Given the description of an element on the screen output the (x, y) to click on. 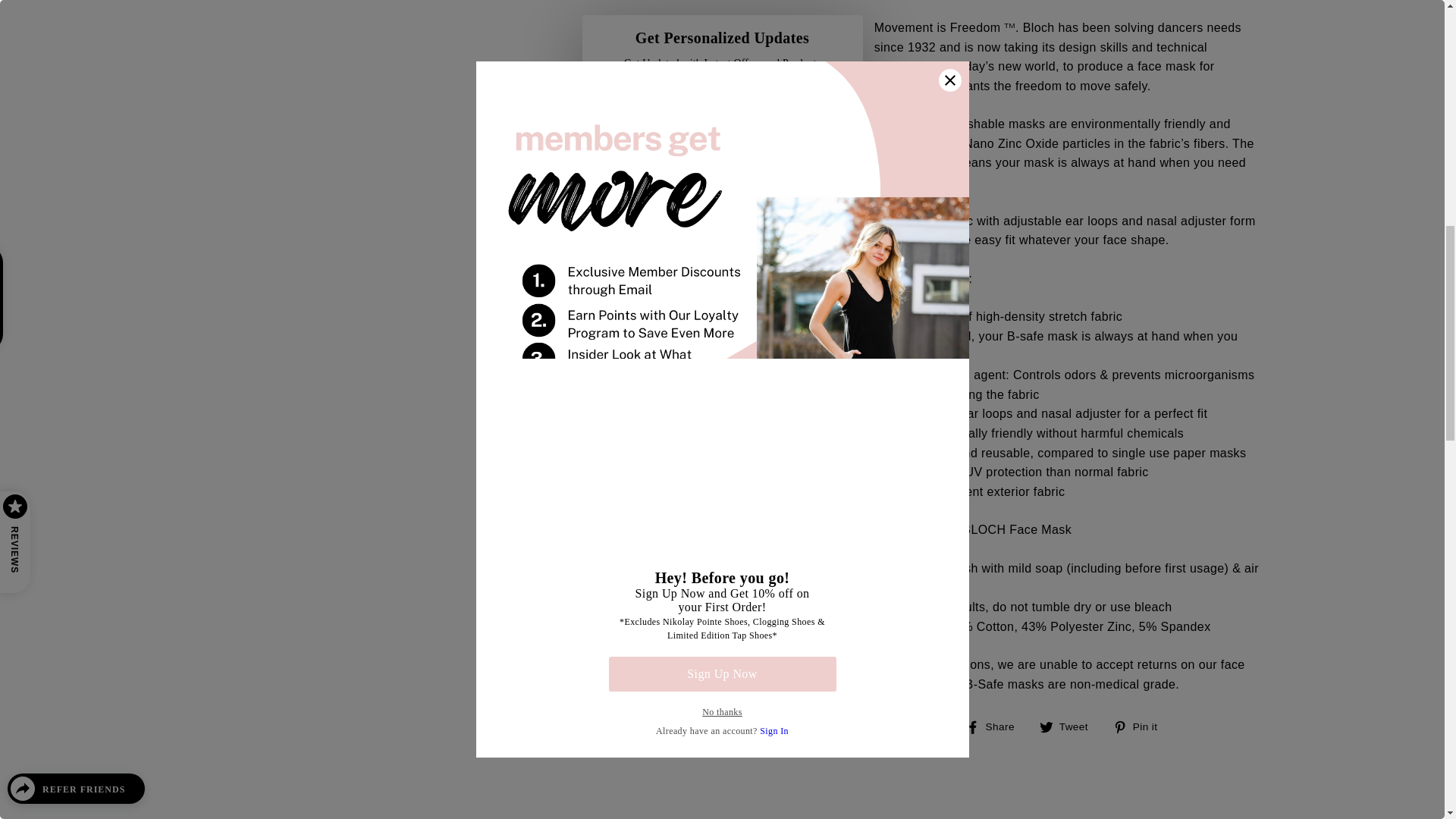
Share on Facebook (996, 727)
Pin on Pinterest (1141, 727)
Tweet on Twitter (1069, 727)
